Given the description of an element on the screen output the (x, y) to click on. 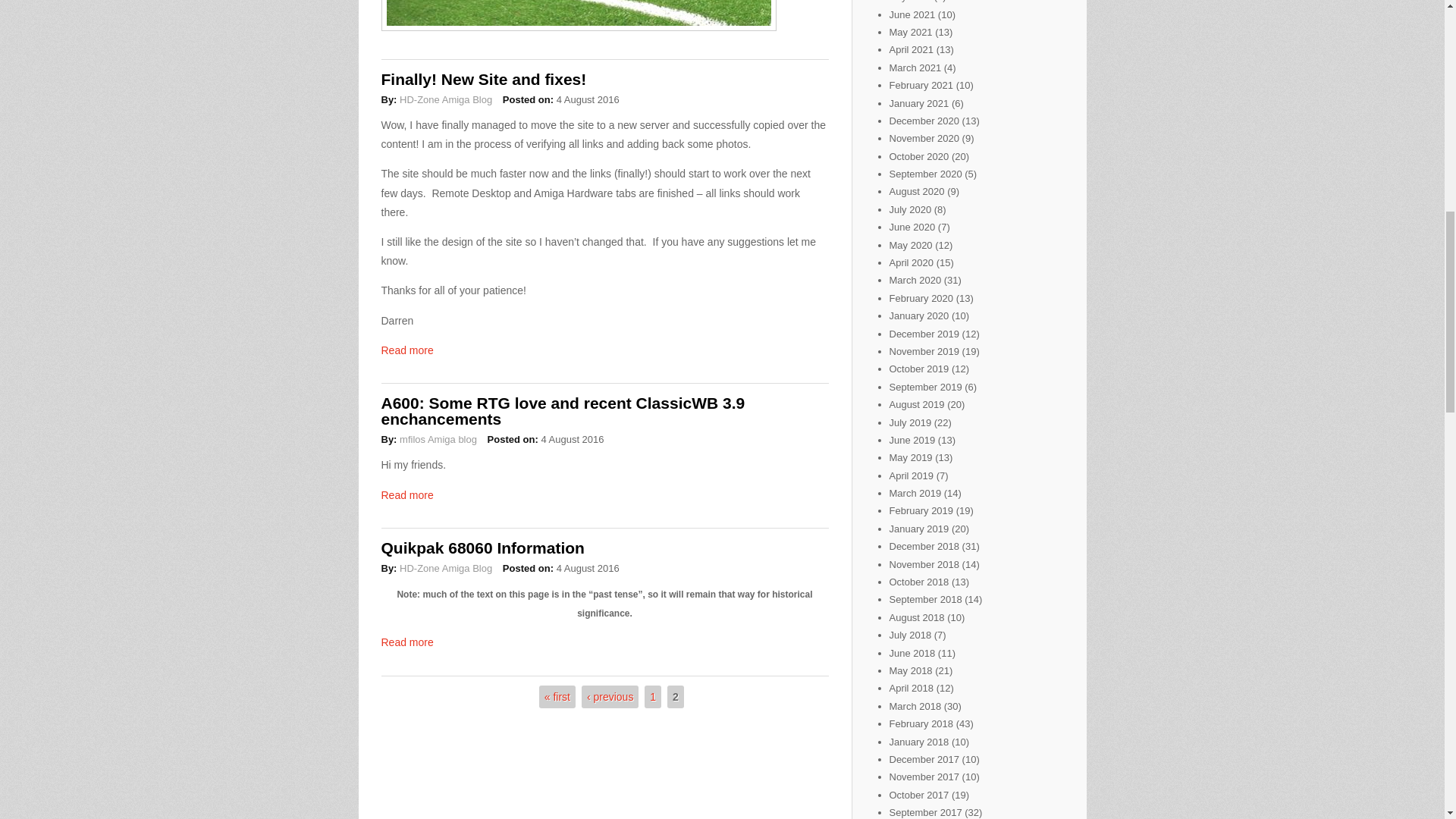
HD-Zone Amiga Blog (445, 568)
mfilos Amiga blog (437, 439)
Quikpak 68060 Information (481, 547)
HD-Zone Amiga Blog (445, 99)
Go to first page (557, 696)
A600: Some RTG love and recent ClassicWB 3.9 enchancements (562, 410)
Go to previous page (609, 696)
Read more (406, 349)
Finally! New Site and fixes! (483, 78)
Read more (406, 642)
Read more (406, 494)
